Given the description of an element on the screen output the (x, y) to click on. 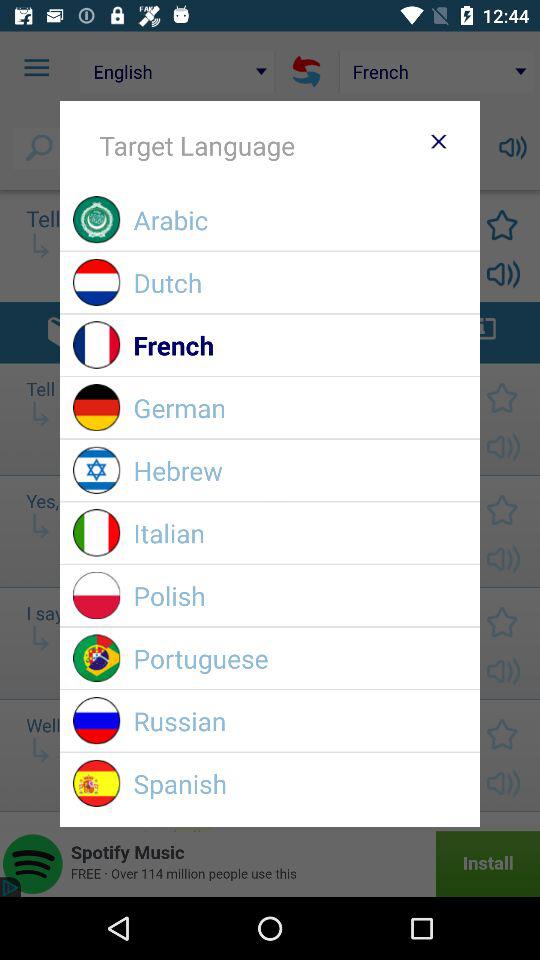
turn off item above arabic icon (438, 141)
